Given the description of an element on the screen output the (x, y) to click on. 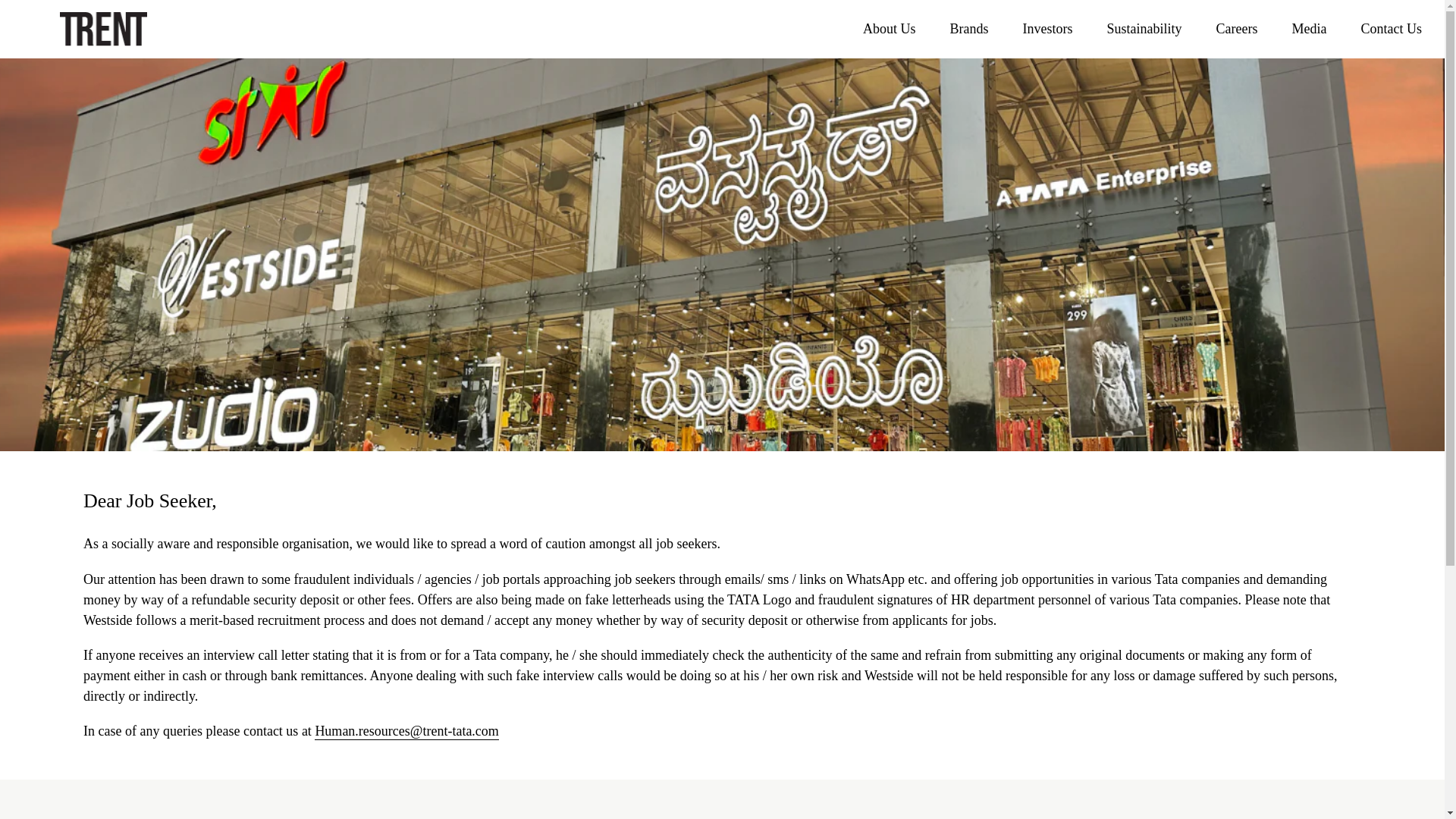
Investors (1053, 28)
About Us (895, 28)
Brands (975, 28)
Careers (1243, 28)
Sustainability (1150, 28)
Media (1315, 28)
